Given the description of an element on the screen output the (x, y) to click on. 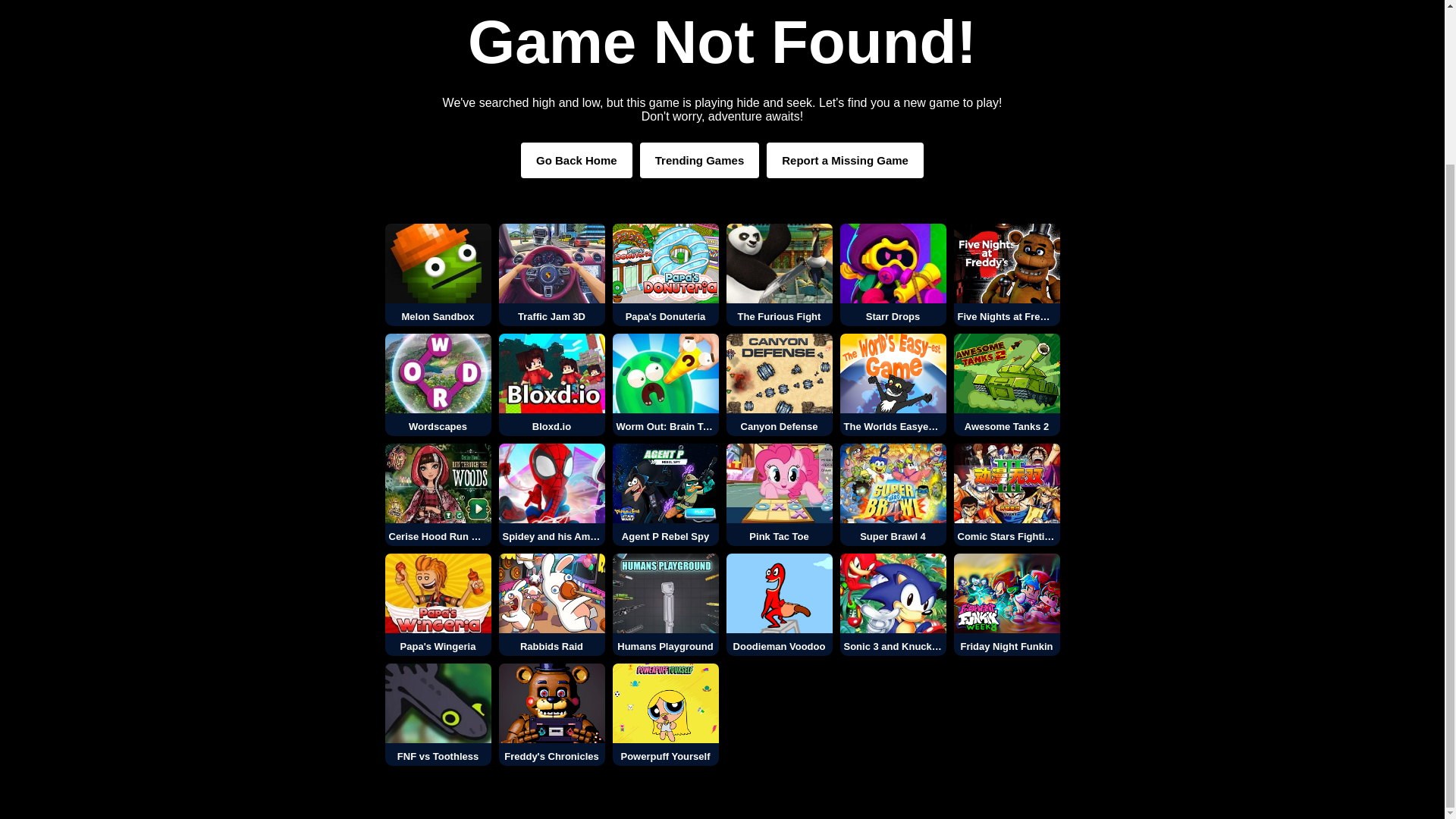
Sonic 3 and Knuckles (893, 604)
Trending Games (700, 160)
Starr Drops (893, 274)
Canyon Defense (779, 384)
Agent P Rebel Spy (665, 494)
FNF vs Toothless (438, 714)
Worm Out: Brain Teaser Games (665, 384)
Rabbids Raid (552, 604)
Bloxd.io (552, 384)
Awesome Tanks 2 (1006, 384)
